Given the description of an element on the screen output the (x, y) to click on. 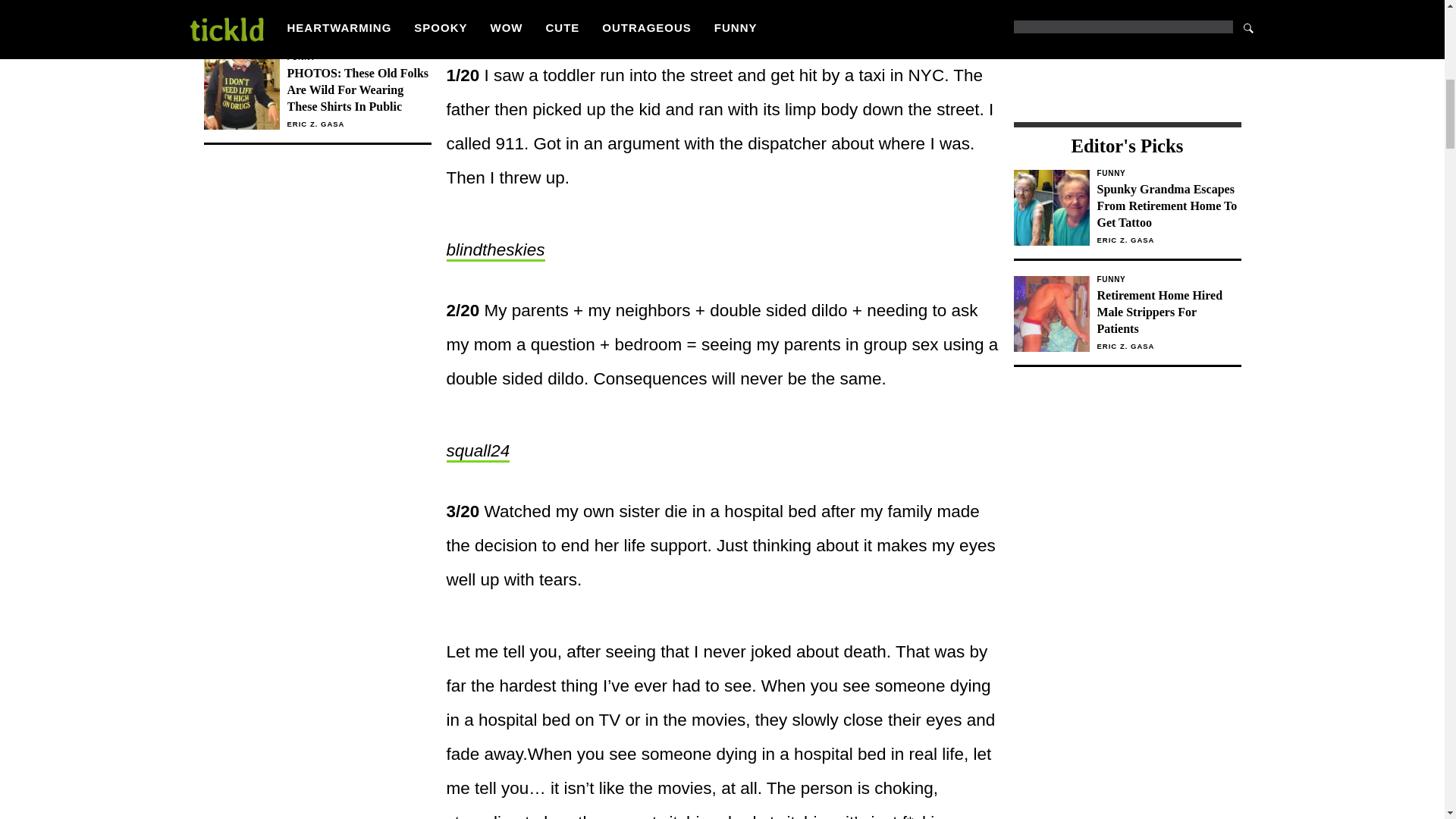
Retirement Home Hired Male Strippers For Patients (1168, 312)
blindtheskies (494, 250)
Spunky Grandma Escapes From Retirement Home To Get Tattoo (1168, 205)
squall24 (477, 451)
Funny (1168, 279)
Funny (1168, 173)
